Given the description of an element on the screen output the (x, y) to click on. 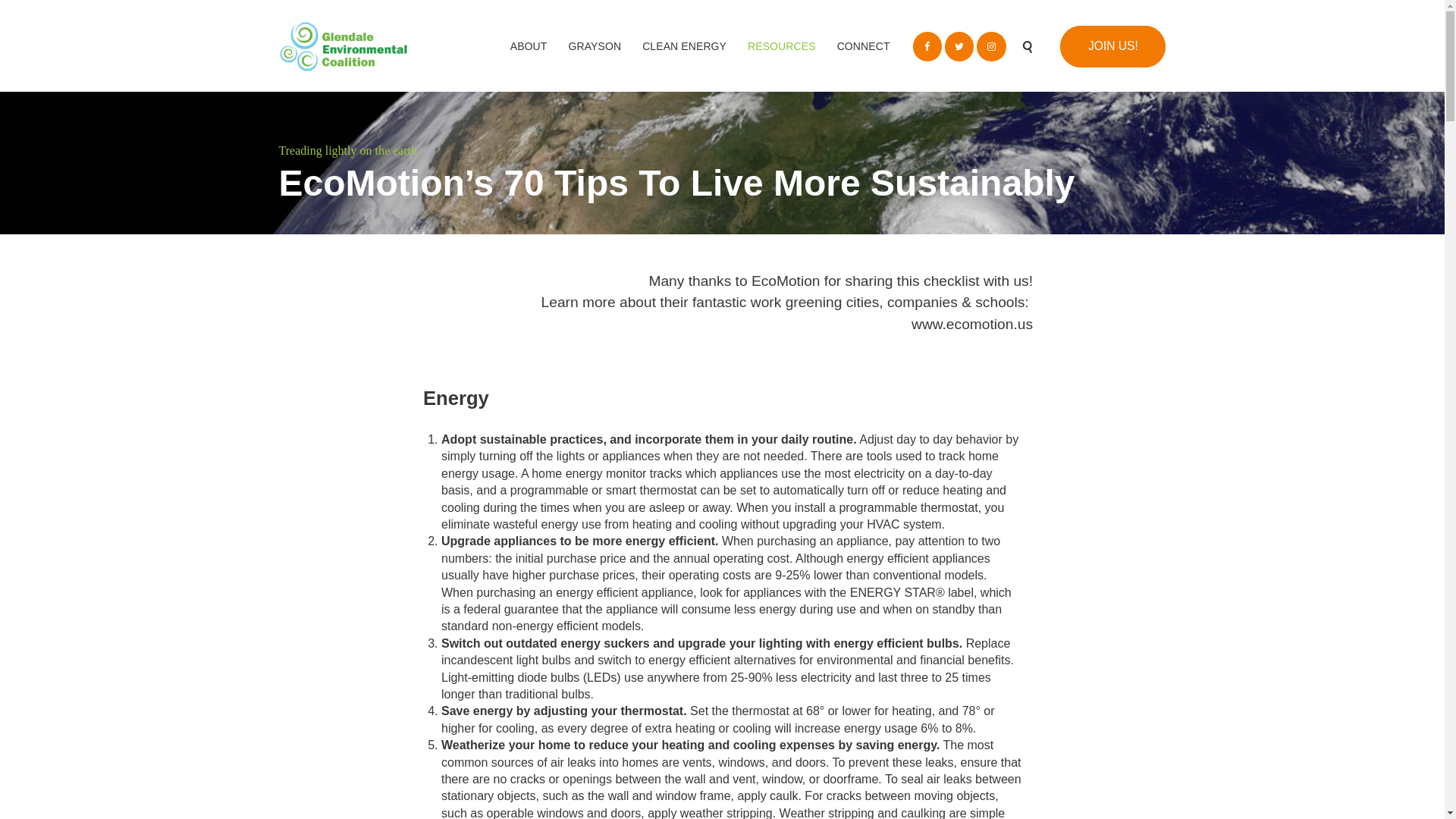
ABOUT (528, 46)
RESOURCES (781, 46)
CLEAN ENERGY (683, 46)
CONNECT (864, 46)
GRAYSON (594, 46)
